Given the description of an element on the screen output the (x, y) to click on. 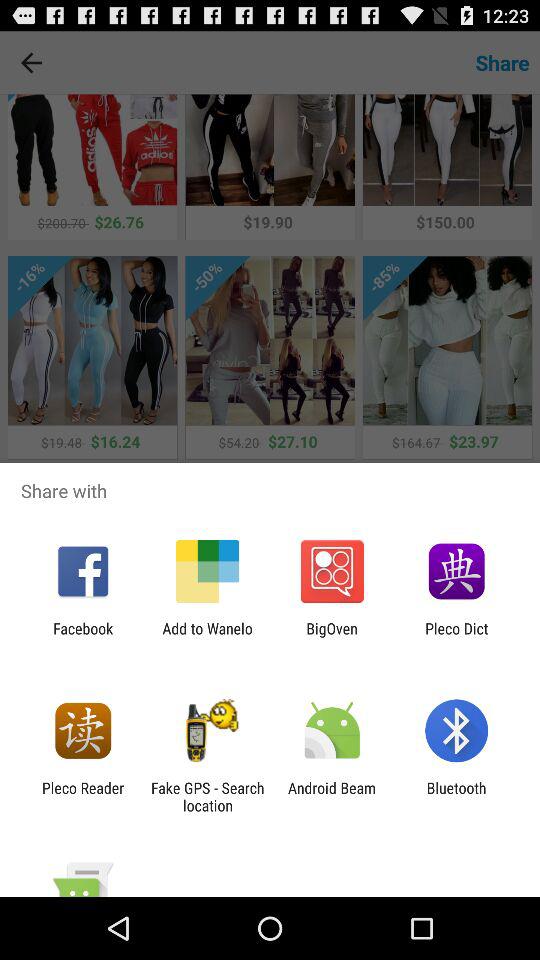
turn off android beam app (332, 796)
